Given the description of an element on the screen output the (x, y) to click on. 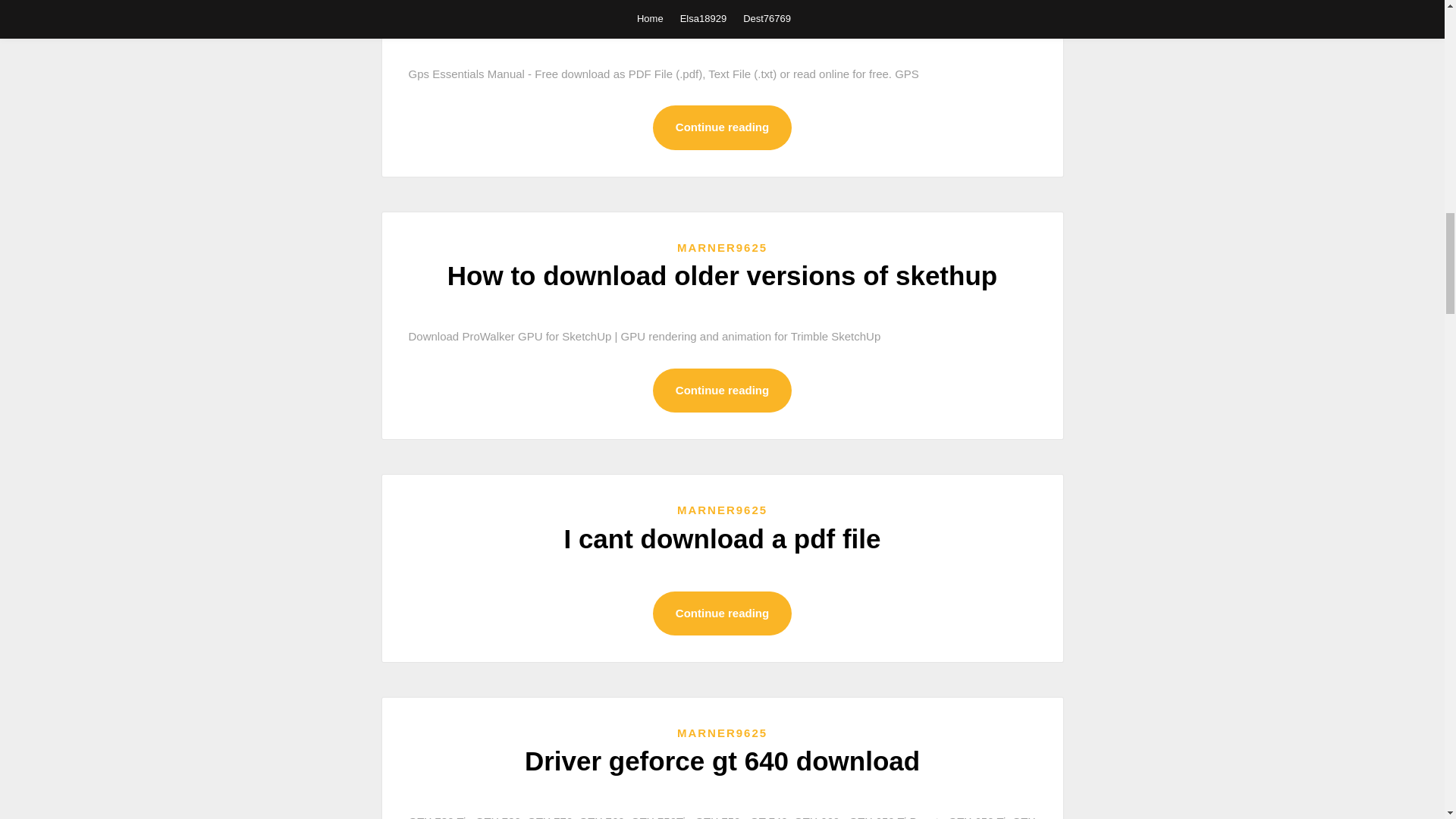
How to download older versions of skethup (721, 275)
Download essentials course pdf file and (721, 13)
MARNER9625 (722, 246)
MARNER9625 (722, 732)
Continue reading (722, 613)
Continue reading (722, 390)
MARNER9625 (722, 509)
Driver geforce gt 640 download (722, 760)
I cant download a pdf file (721, 537)
Continue reading (722, 127)
